Given the description of an element on the screen output the (x, y) to click on. 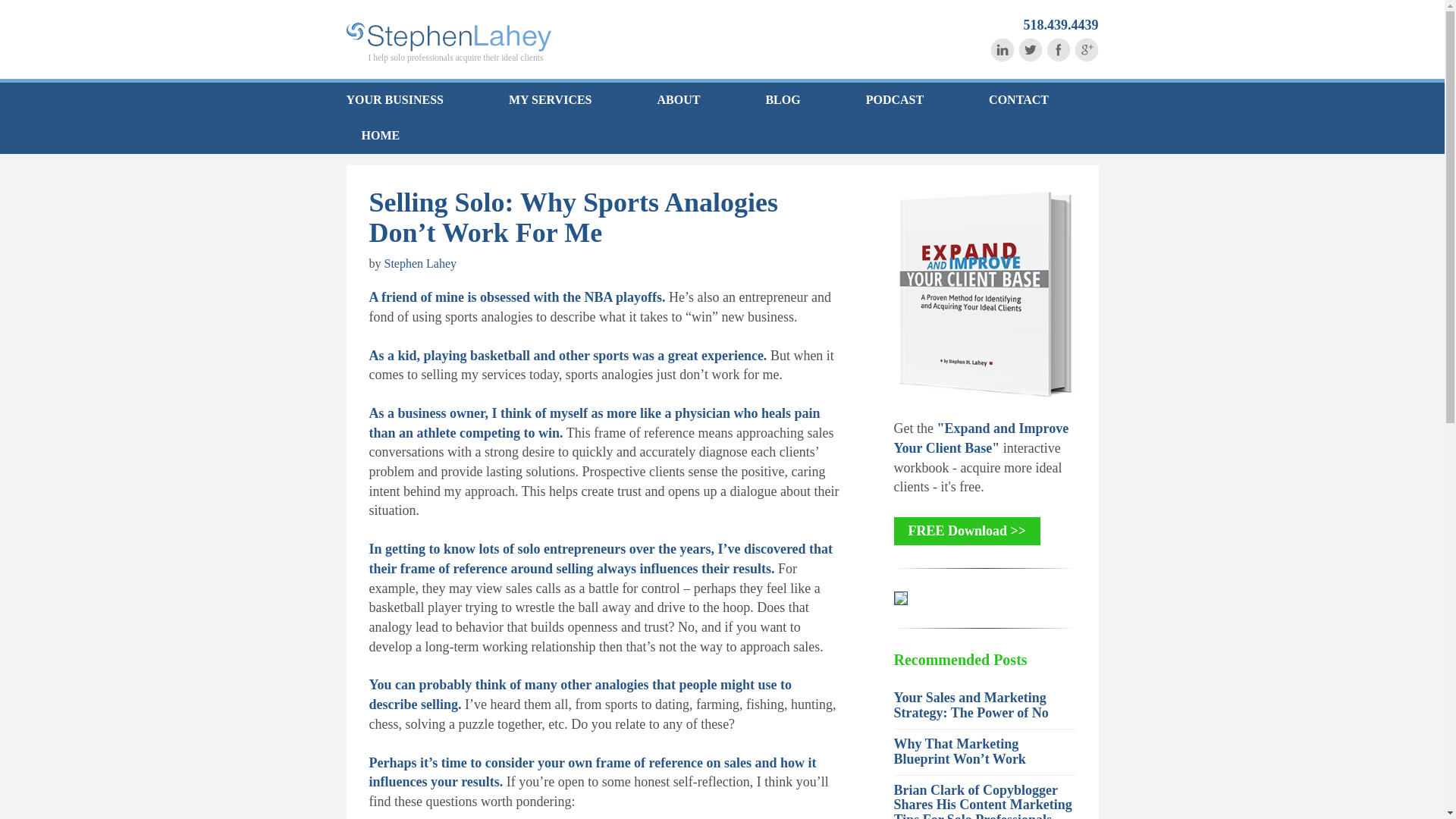
PODCAST (894, 99)
YOUR BUSINESS (410, 99)
CONTACT (1019, 99)
HOME (372, 135)
ABOUT (679, 99)
BLOG (782, 99)
Your Sales and Marketing Strategy: The Power of No (970, 705)
Stephen Lahey (420, 263)
Smart Solo Business (448, 36)
